Given the description of an element on the screen output the (x, y) to click on. 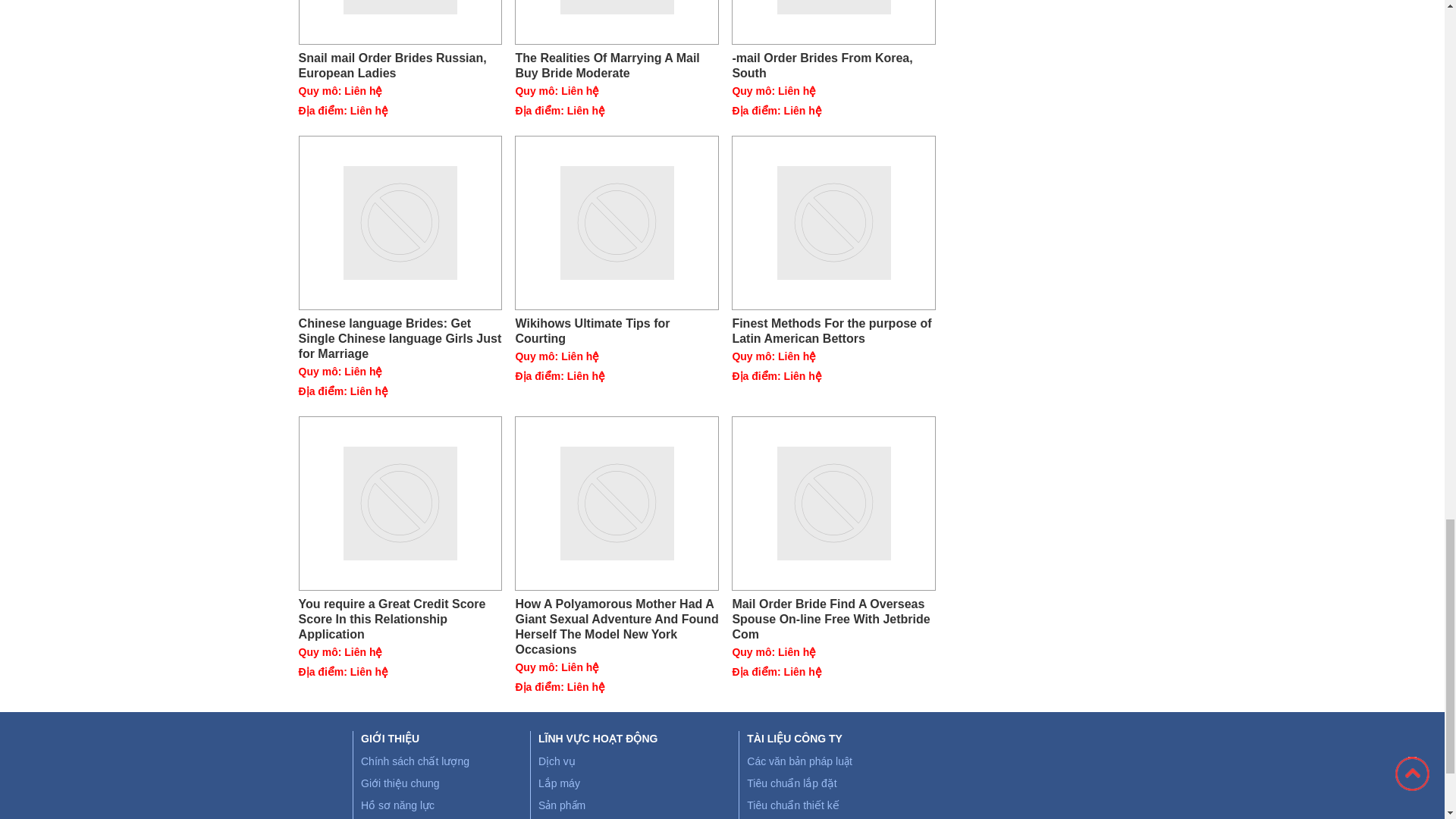
Wikihows Ultimate Tips for Courting (617, 222)
Snail mail Order Brides Russian, European Ladies (400, 65)
Wikihows Ultimate Tips for Courting (617, 331)
Wikihows Ultimate Tips for Courting (617, 331)
Snail mail Order Brides Russian, European Ladies (400, 65)
Snail mail Order Brides Russian, European Ladies (400, 22)
The Realities Of Marrying A Mail Buy Bride Moderate (617, 65)
-mail Order Brides From Korea, South (834, 65)
Finest Methods For the purpose of Latin American Bettors (834, 222)
Finest Methods For the purpose of Latin American Bettors (834, 331)
